Given the description of an element on the screen output the (x, y) to click on. 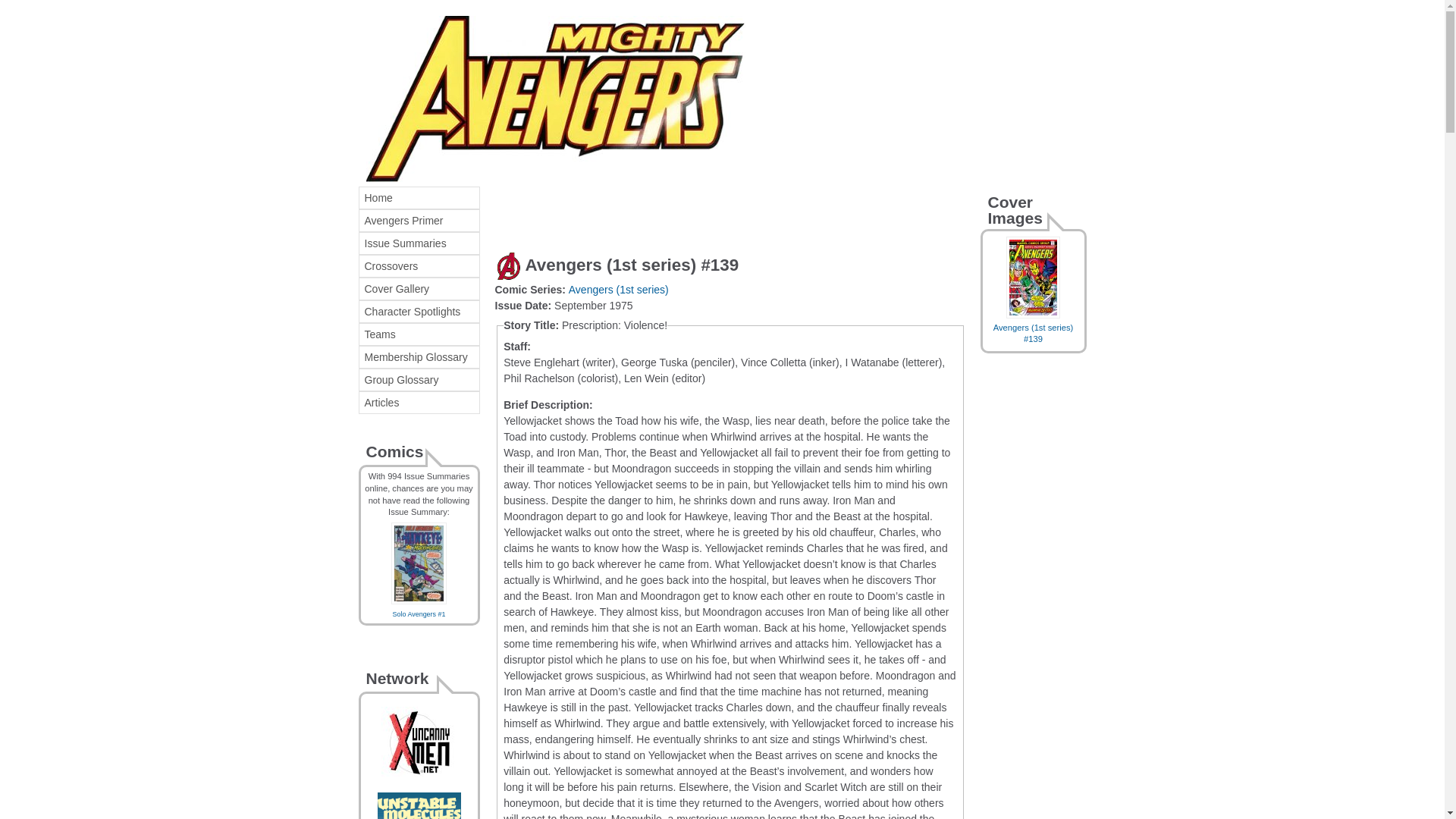
Articles (418, 402)
Cover Gallery (418, 288)
Teams (418, 333)
Avengers Primer (418, 220)
Membership Glossary (418, 356)
Home (418, 197)
Group Glossary (418, 379)
Browse the Cover Gallery (418, 288)
Advertisement (671, 208)
Crossovers (418, 265)
